Given the description of an element on the screen output the (x, y) to click on. 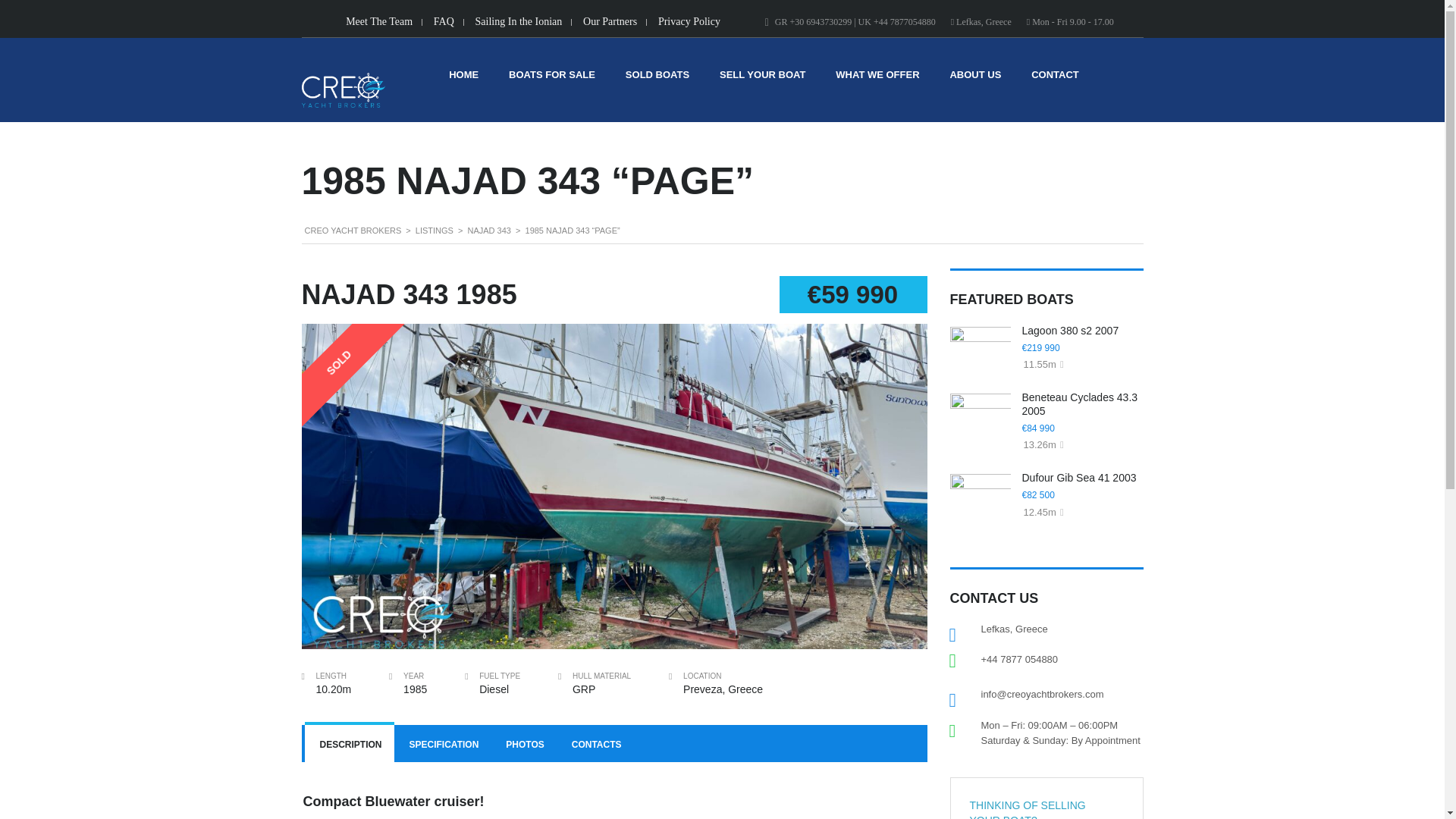
DESCRIPTION (349, 743)
Meet The Team (379, 21)
BOATS FOR SALE (551, 78)
PHOTOS (523, 743)
Go to Listings. (433, 230)
CONTACT (1054, 78)
HOME (463, 78)
Go to the Najad 343 Make archives. (489, 230)
NAJAD 343 (489, 230)
LISTINGS (433, 230)
SELL YOUR BOAT (762, 78)
SOLD BOATS (657, 78)
ABOUT US (975, 78)
Sailing In the Ionian (519, 21)
FAQ (443, 21)
